Given the description of an element on the screen output the (x, y) to click on. 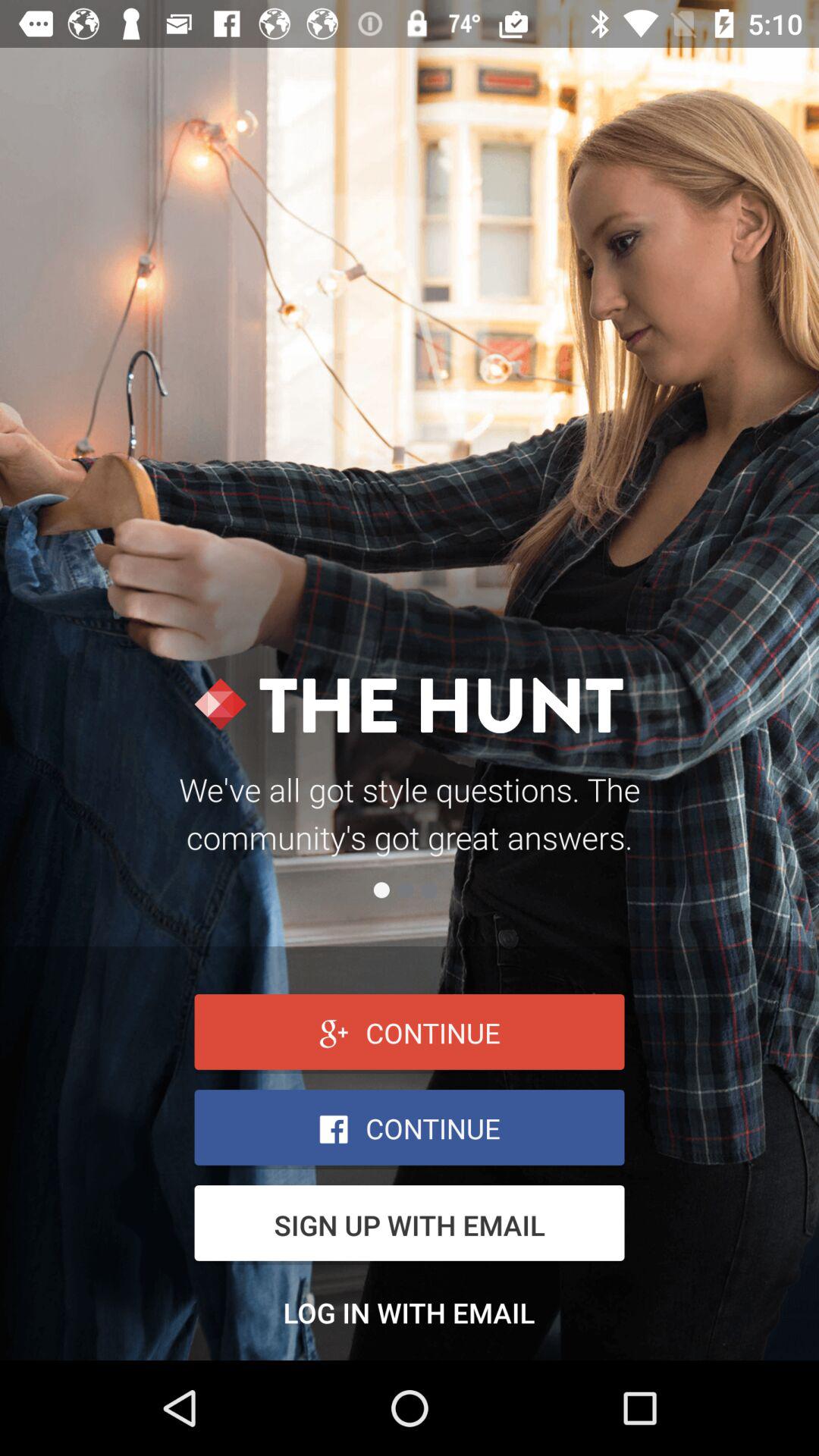
facebook box option (409, 1129)
